Given the description of an element on the screen output the (x, y) to click on. 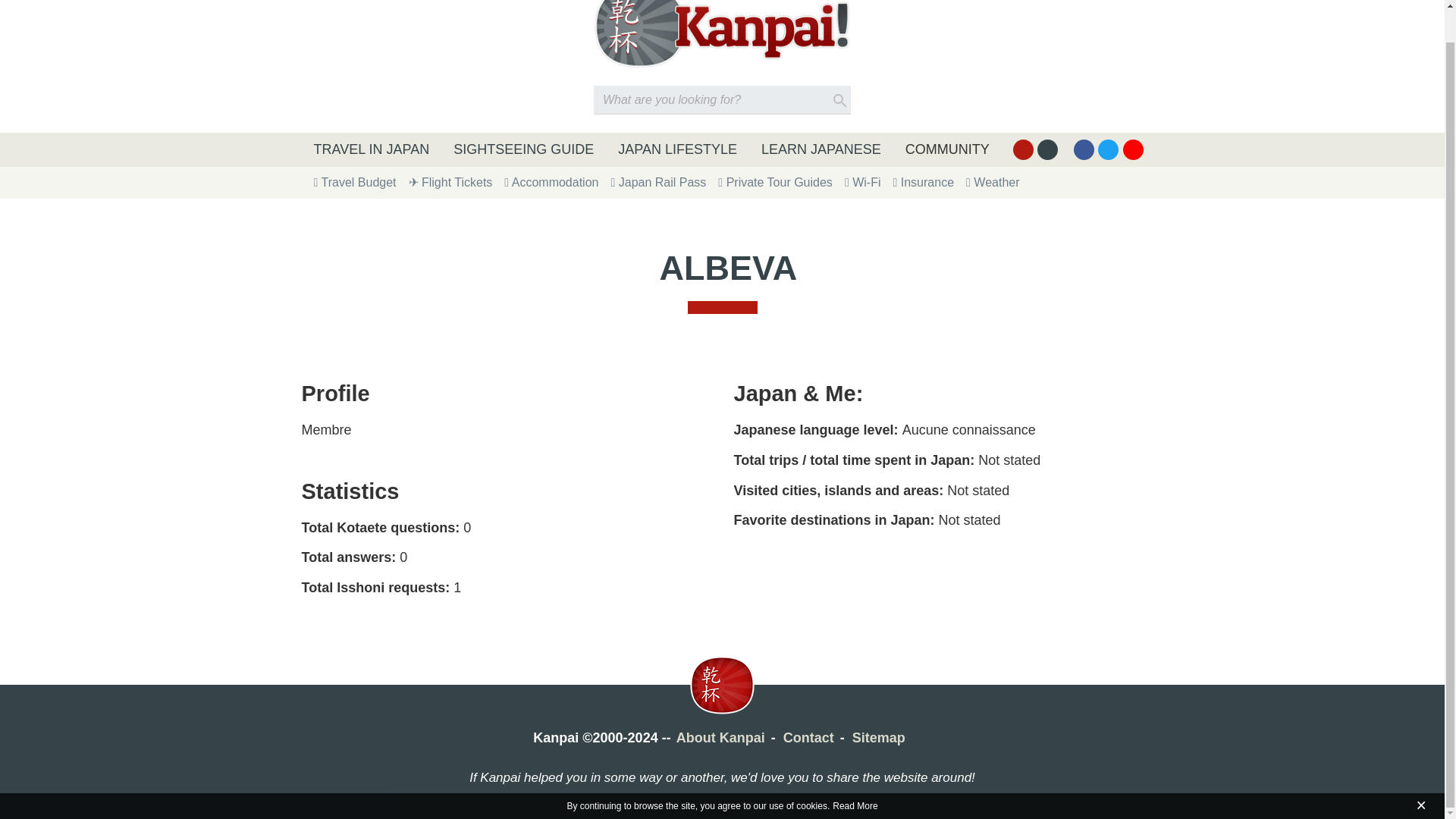
TRAVEL IN JAPAN (371, 149)
Accommodation in Japan: A Comprehensive Guide (550, 182)
Kanpai on Twitter (1107, 149)
Airfare deals to Japan: Find the cheapest flights (451, 182)
Japan Rail Pass: where to buy for cheap? (658, 182)
SIGHTSEEING GUIDE (523, 149)
Kanpai on Facebook (1084, 149)
Kanpai-japan.com logo (722, 33)
Calculate your Japan travel budget (355, 182)
Travel insurance and assistance for Japan (922, 182)
Enter the terms you wish to search for. (722, 99)
Kanpai on YouTube (1132, 149)
Kanpai Newsletter (1047, 149)
